Given the description of an element on the screen output the (x, y) to click on. 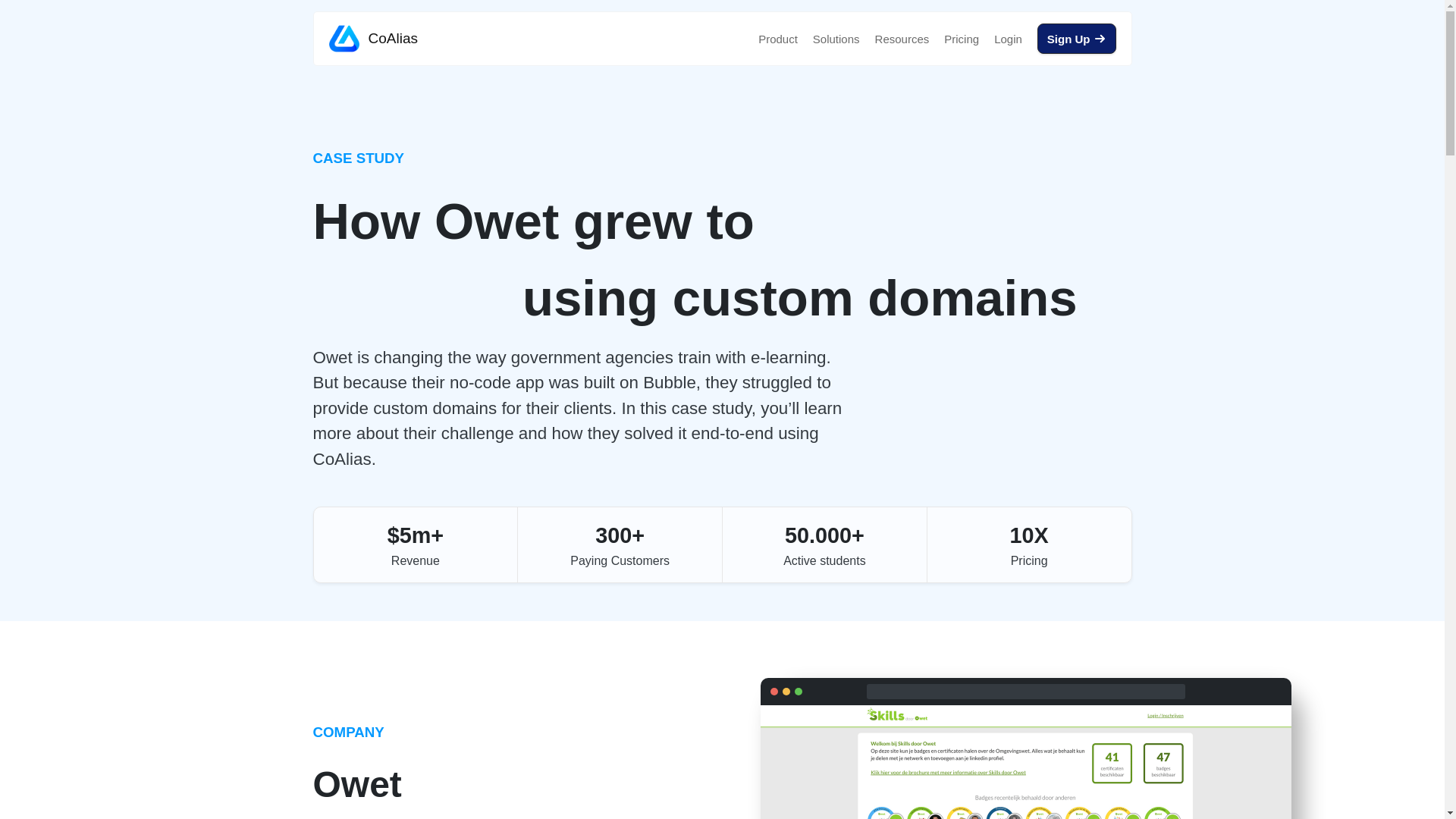
Resources (902, 38)
CoAlias (374, 38)
Pricing (961, 38)
Product (778, 38)
Solutions (836, 38)
Login (1008, 38)
Sign Up (1076, 38)
